Given the description of an element on the screen output the (x, y) to click on. 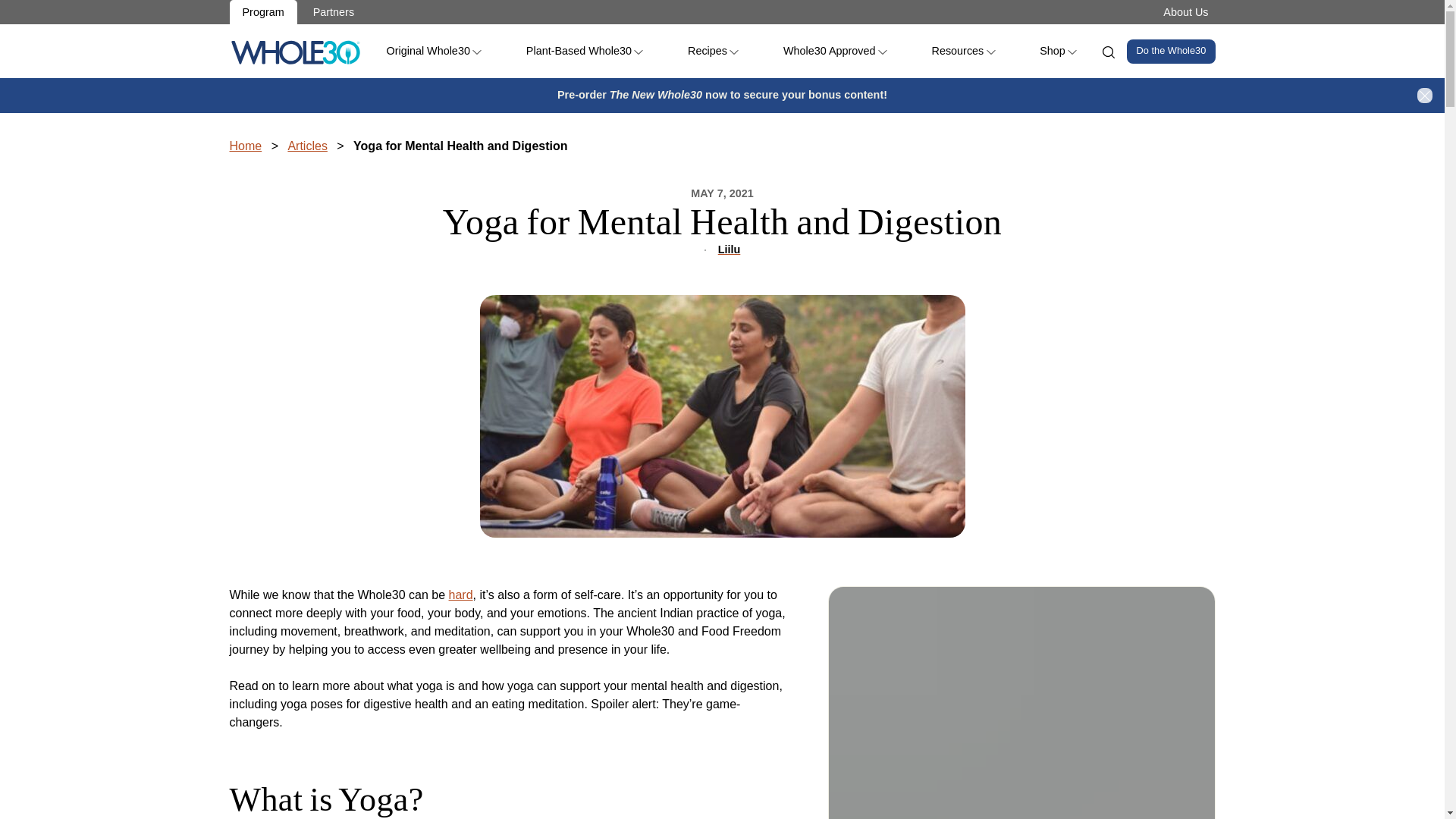
About Us (1184, 11)
R (294, 51)
Partners (332, 12)
Program (262, 12)
R (294, 51)
